Given the description of an element on the screen output the (x, y) to click on. 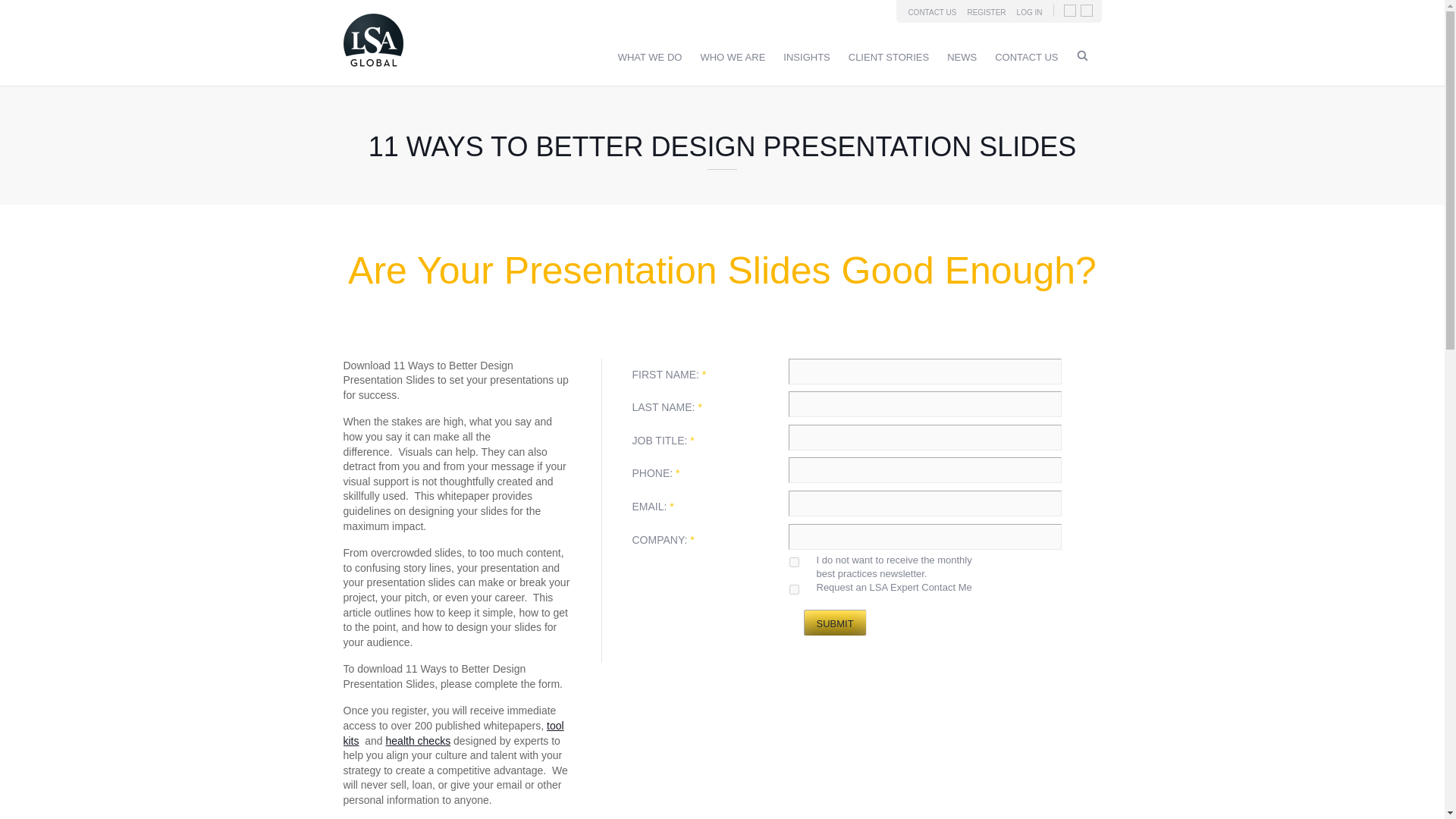
What We Do (649, 57)
Insights (806, 57)
NEWS (961, 57)
REGISTER (986, 12)
Who We Are (732, 57)
1 (794, 562)
INSIGHTS (806, 57)
WHO WE ARE (732, 57)
News (961, 57)
Client Stories (888, 57)
